Given the description of an element on the screen output the (x, y) to click on. 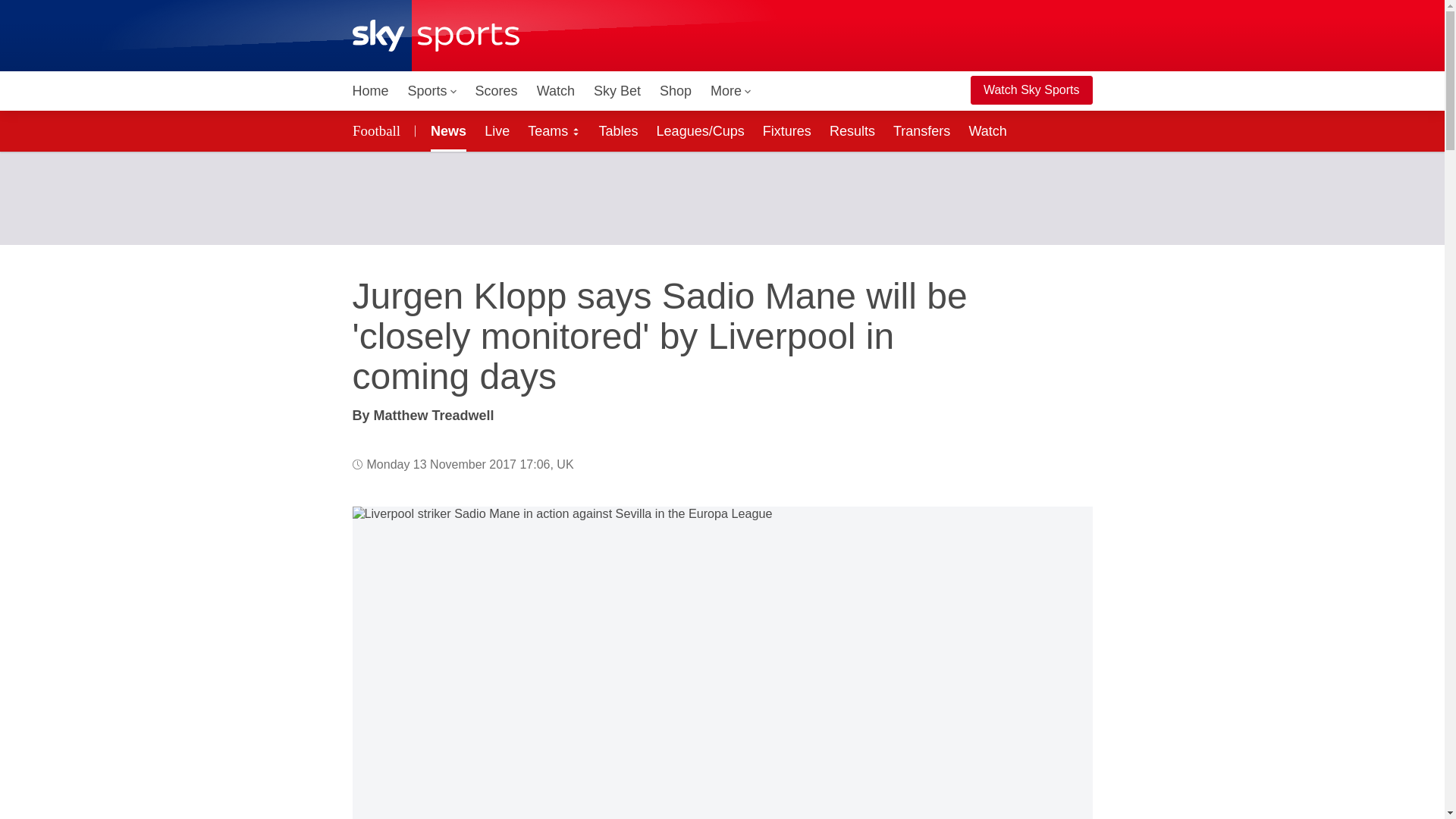
Teams (553, 130)
Home (369, 91)
Live (497, 130)
News (445, 130)
More (730, 91)
Shop (675, 91)
Watch (555, 91)
Football (378, 130)
Watch Sky Sports (1032, 90)
Sky Bet (616, 91)
Sports (432, 91)
Scores (496, 91)
